Given the description of an element on the screen output the (x, y) to click on. 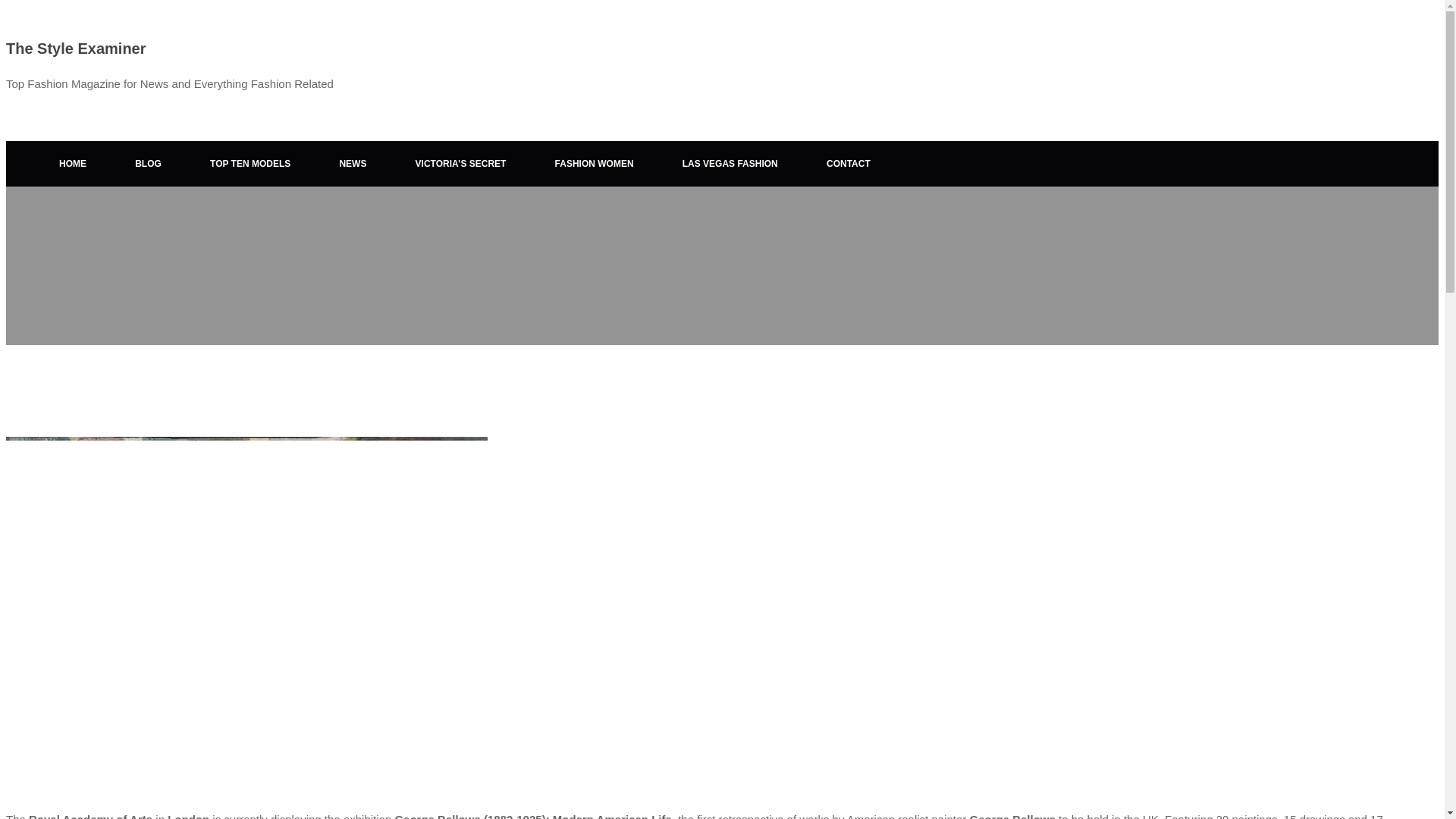
NEWS (351, 163)
LAS VEGAS FASHION (729, 163)
TOP TEN MODELS (250, 163)
The Style Examiner (76, 48)
CONTACT (848, 163)
FASHION WOMEN (594, 163)
HOME (72, 163)
BLOG (148, 163)
